Given the description of an element on the screen output the (x, y) to click on. 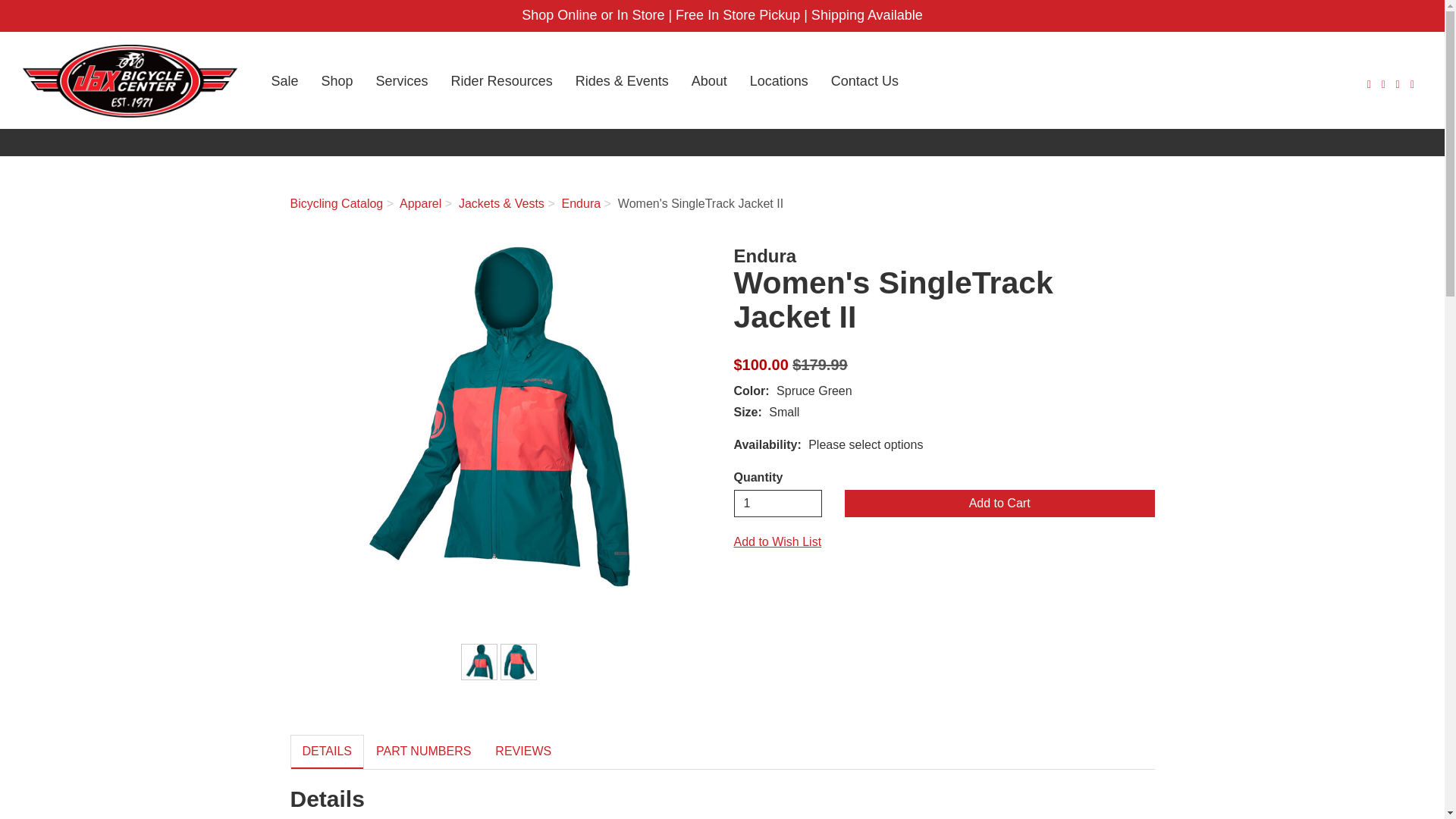
Jax Bicycle Center Home Page (130, 81)
Color: Spruce Green (478, 661)
1 (777, 502)
Shop (337, 81)
Sale (283, 81)
Color: Spruce Green (517, 661)
